Given the description of an element on the screen output the (x, y) to click on. 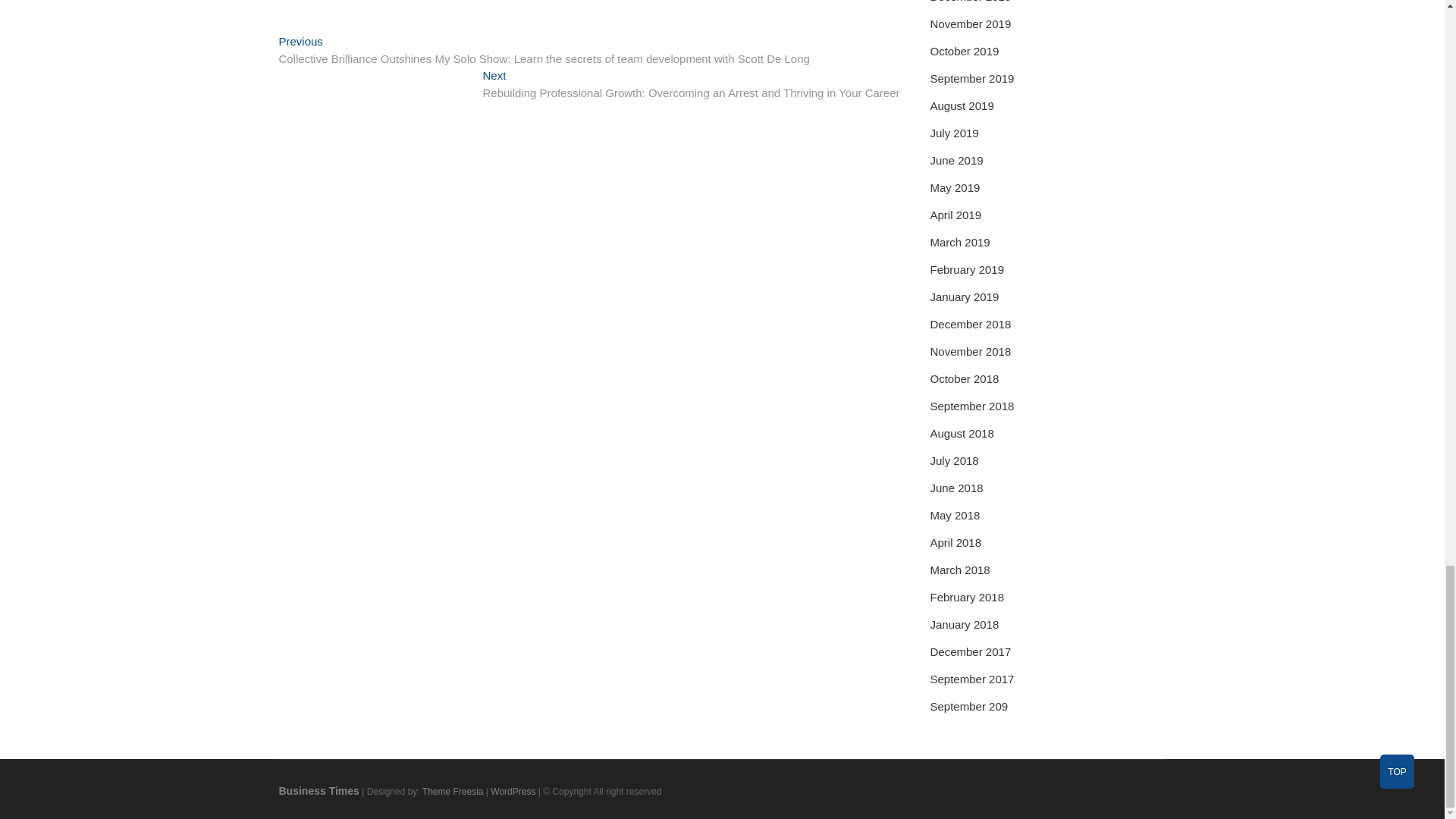
Theme Freesia (452, 791)
WordPress (512, 791)
Business Times (319, 790)
